Given the description of an element on the screen output the (x, y) to click on. 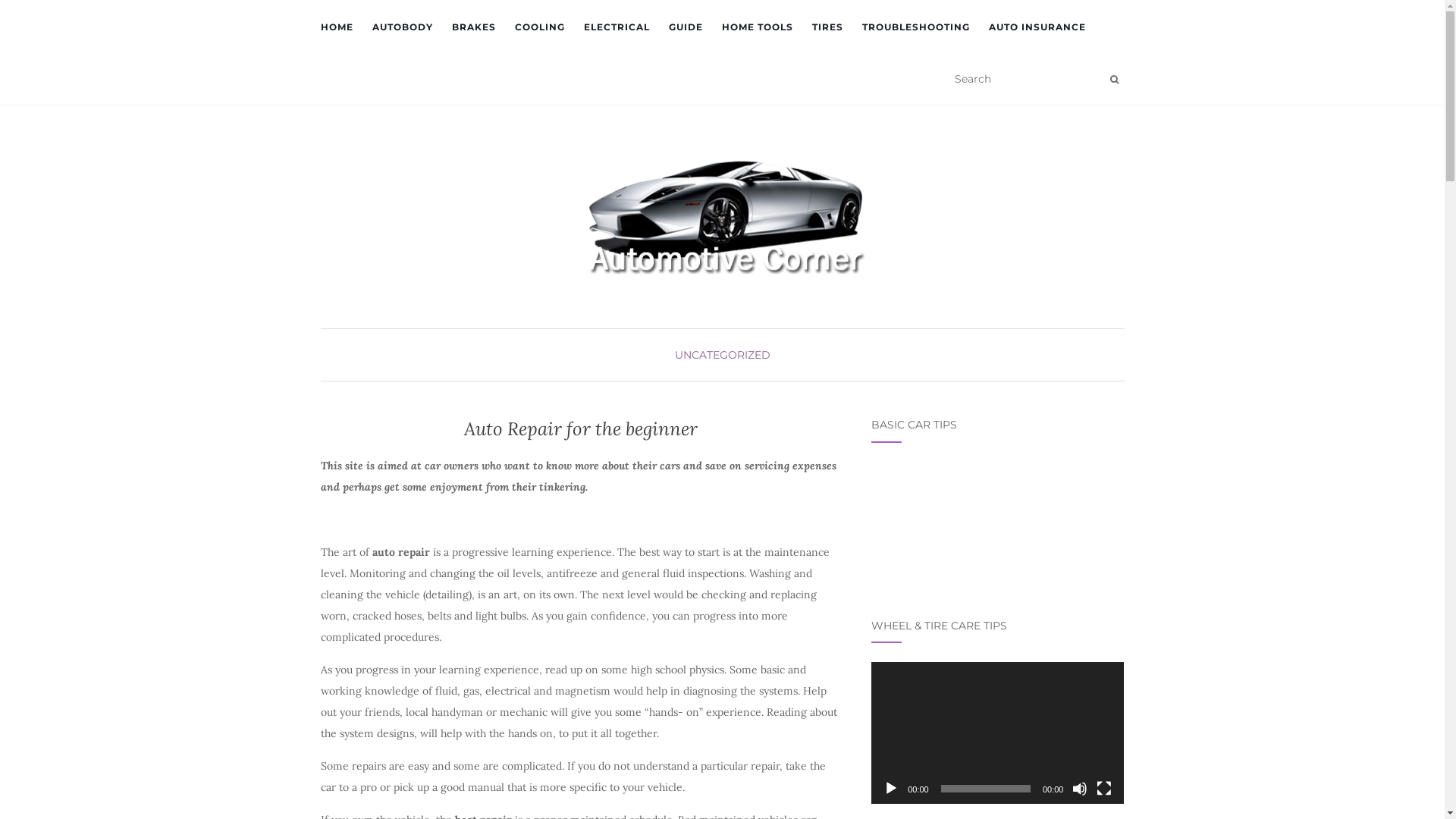
ELECTRICAL Element type: text (616, 26)
Play Element type: hover (890, 788)
GUIDE Element type: text (685, 26)
Mute Element type: hover (1079, 788)
AUTOBODY Element type: text (401, 26)
BRAKES Element type: text (473, 26)
HOME Element type: text (336, 26)
Search Element type: text (1114, 79)
Fullscreen Element type: hover (1103, 788)
TIRES Element type: text (826, 26)
UNCATEGORIZED Element type: text (722, 354)
HOME TOOLS Element type: text (757, 26)
COOLING Element type: text (539, 26)
TROUBLESHOOTING Element type: text (915, 26)
AUTO INSURANCE Element type: text (1036, 26)
